Given the description of an element on the screen output the (x, y) to click on. 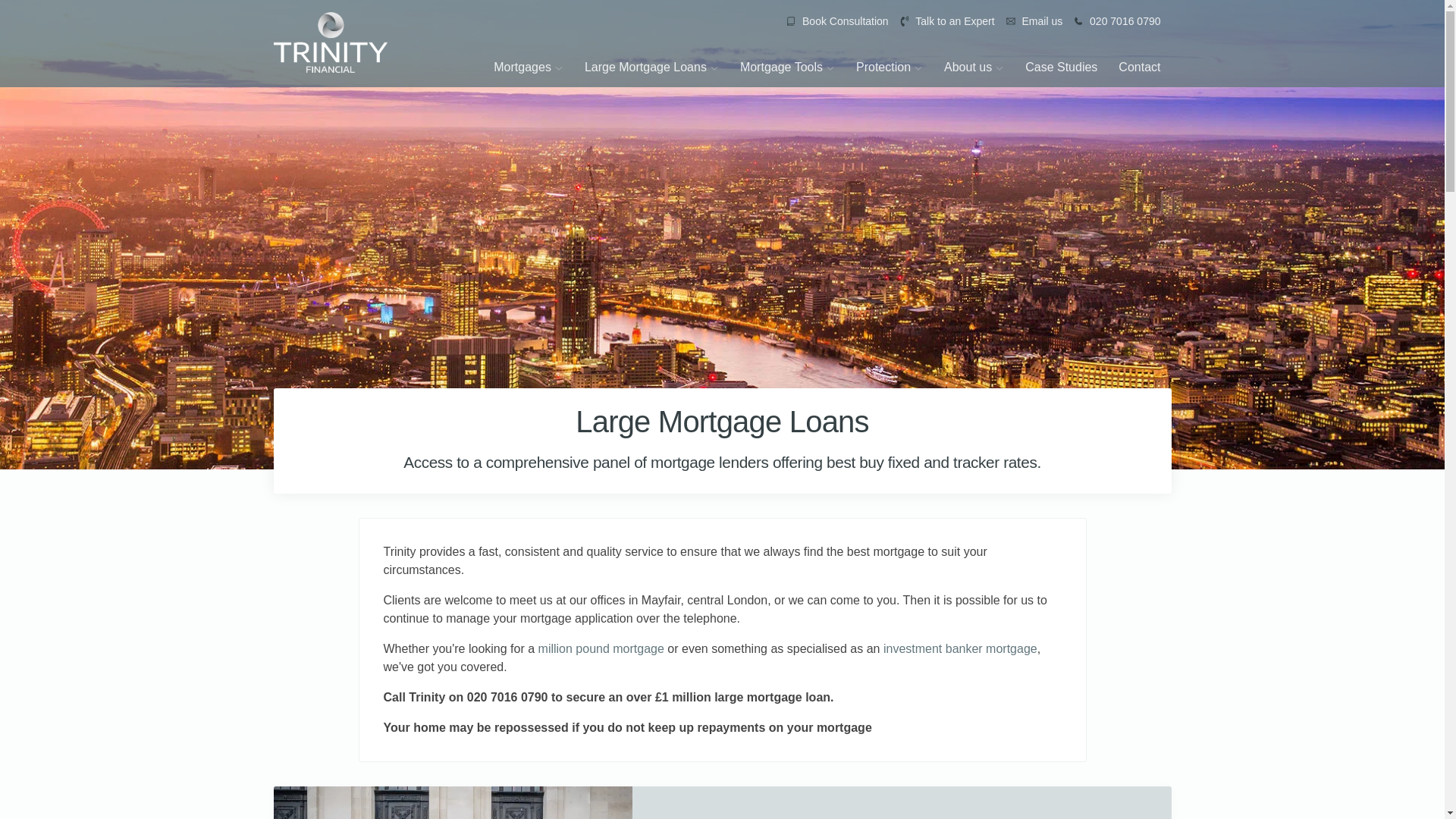
Mortgages (528, 66)
Email us (1034, 21)
Mortgage Tools (787, 66)
Large Mortgage Loans (651, 66)
Click for homepage (330, 41)
Book Consultation (837, 21)
Talk to an Expert (946, 21)
020 7016 0790 (1116, 21)
About us (973, 66)
Protection (889, 66)
